Given the description of an element on the screen output the (x, y) to click on. 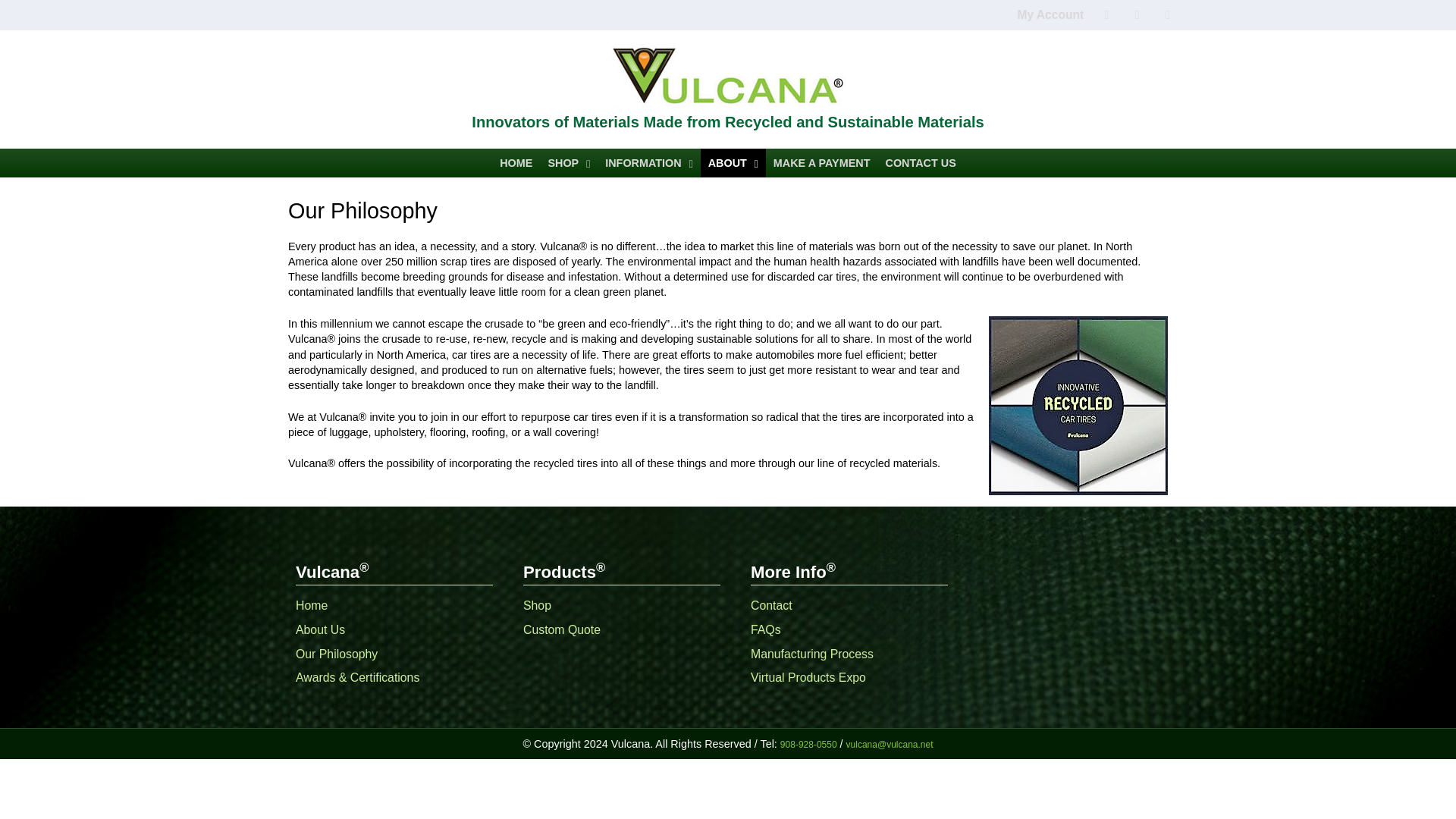
About Us (320, 629)
Virtual Products Expo (808, 676)
MAKE A PAYMENT (821, 163)
My Account (727, 15)
INFORMATION (648, 163)
Our Philosophy (336, 653)
HOME (516, 163)
CONTACT US (920, 163)
Shop (536, 604)
FAQs (765, 629)
